Given the description of an element on the screen output the (x, y) to click on. 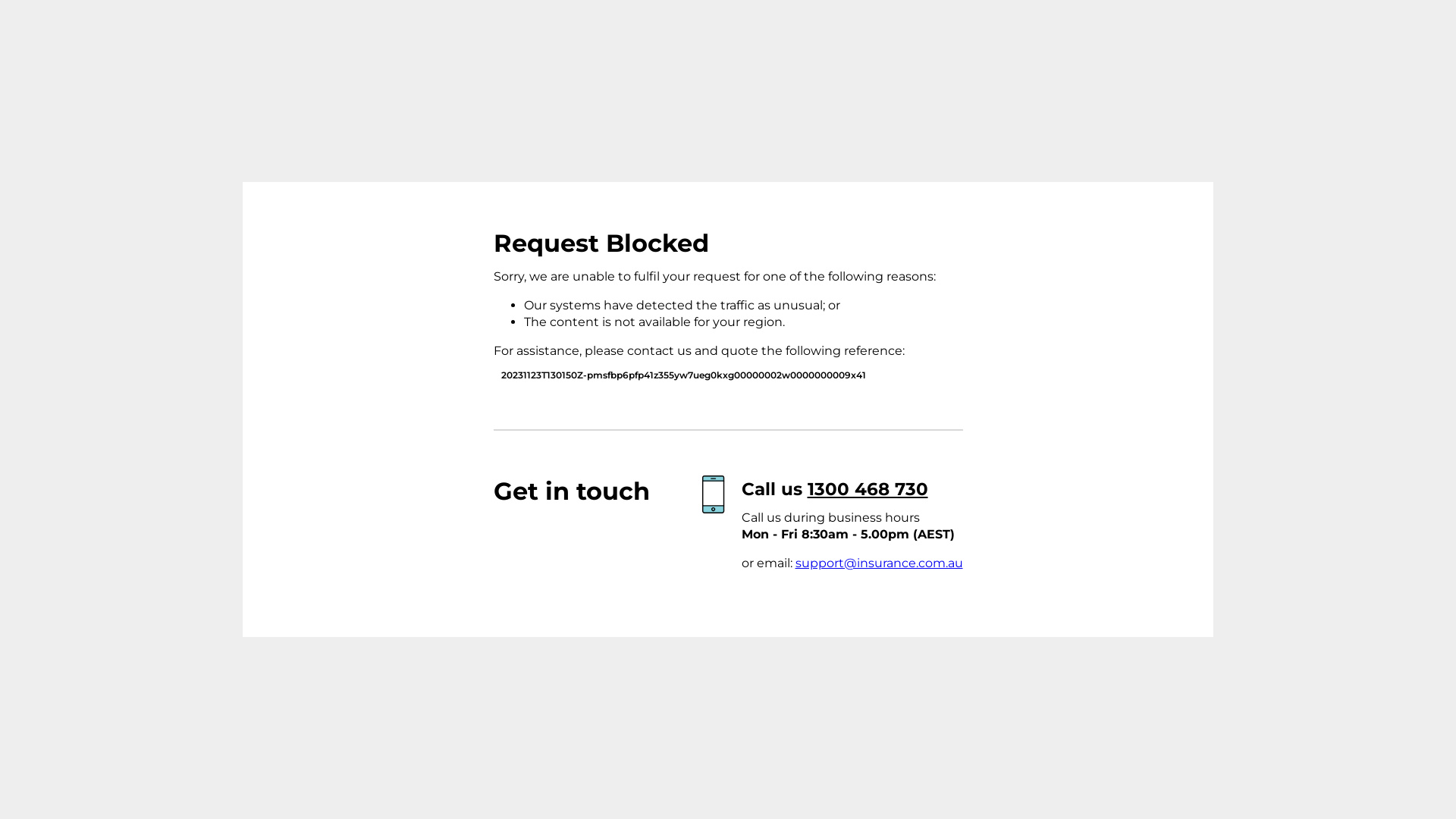
1300 468 730 Element type: text (866, 488)
support@insurance.com.au Element type: text (878, 562)
Insurance.com.au Element type: text (383, 273)
